Given the description of an element on the screen output the (x, y) to click on. 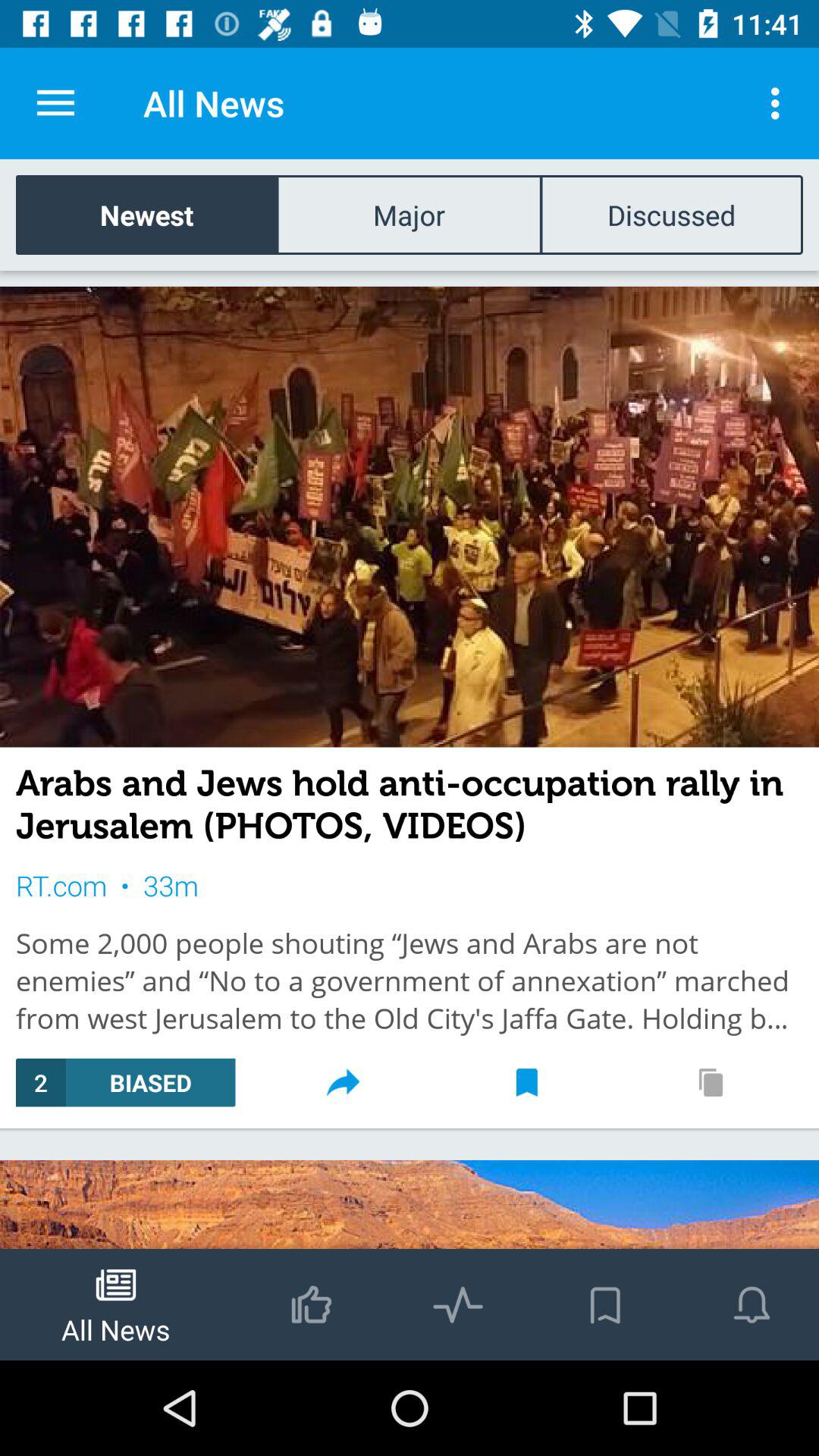
tap item to the right of all news icon (779, 103)
